Given the description of an element on the screen output the (x, y) to click on. 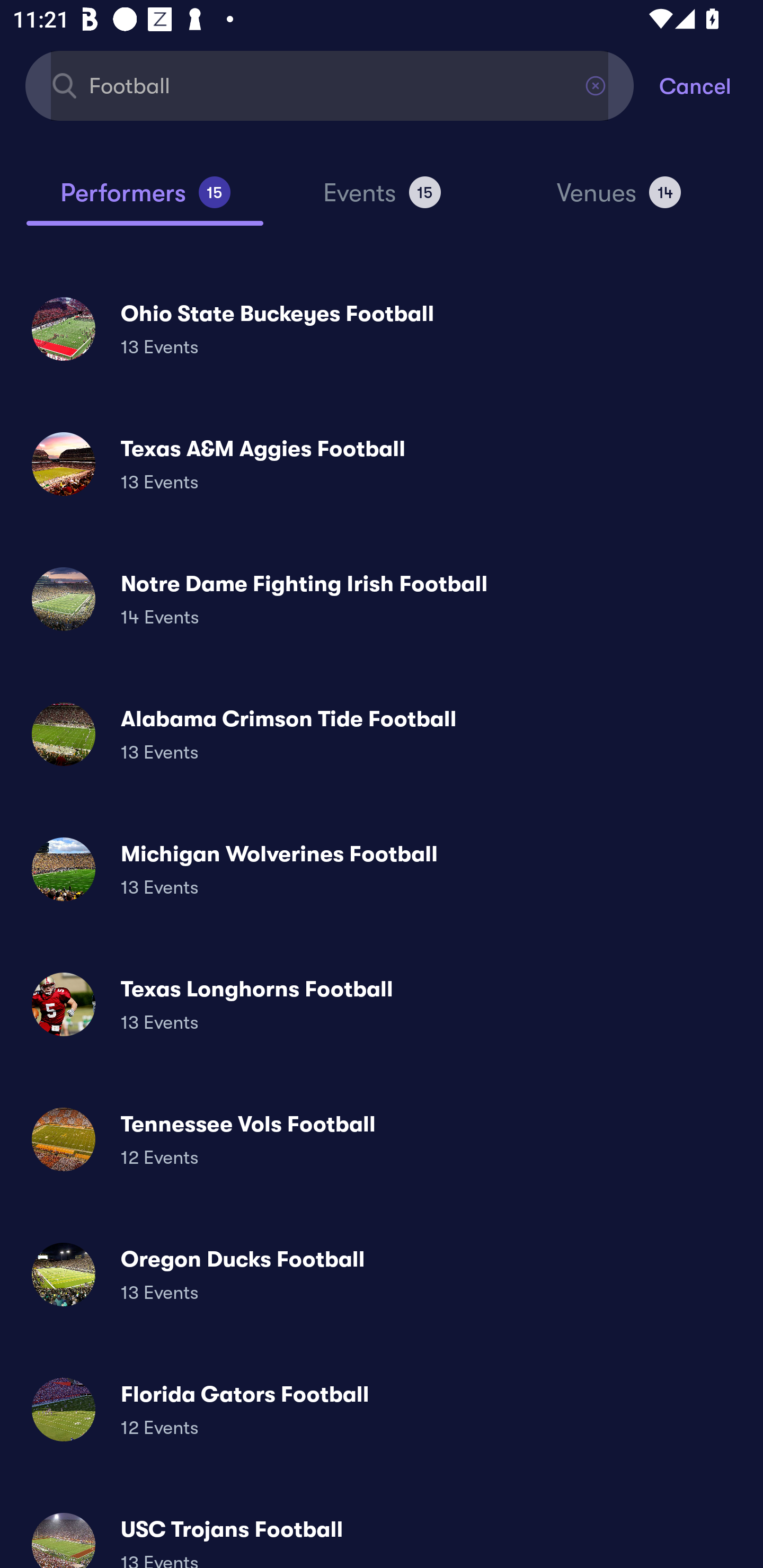
Football Find (329, 85)
Football Find (329, 85)
Cancel (711, 85)
Performers 15 (144, 200)
Events 15 (381, 200)
Venues 14 (618, 200)
Ohio State Buckeyes Football 13 Events (381, 328)
Texas A&M Aggies Football 13 Events (381, 464)
Notre Dame Fighting Irish Football 14 Events (381, 598)
Alabama Crimson Tide Football 13 Events (381, 734)
Michigan Wolverines Football 13 Events (381, 869)
Texas Longhorns Football 13 Events (381, 1004)
Tennessee Vols Football 12 Events (381, 1138)
Oregon Ducks Football 13 Events (381, 1273)
Florida Gators Football 12 Events (381, 1409)
USC Trojans Football 13 Events (381, 1532)
